Given the description of an element on the screen output the (x, y) to click on. 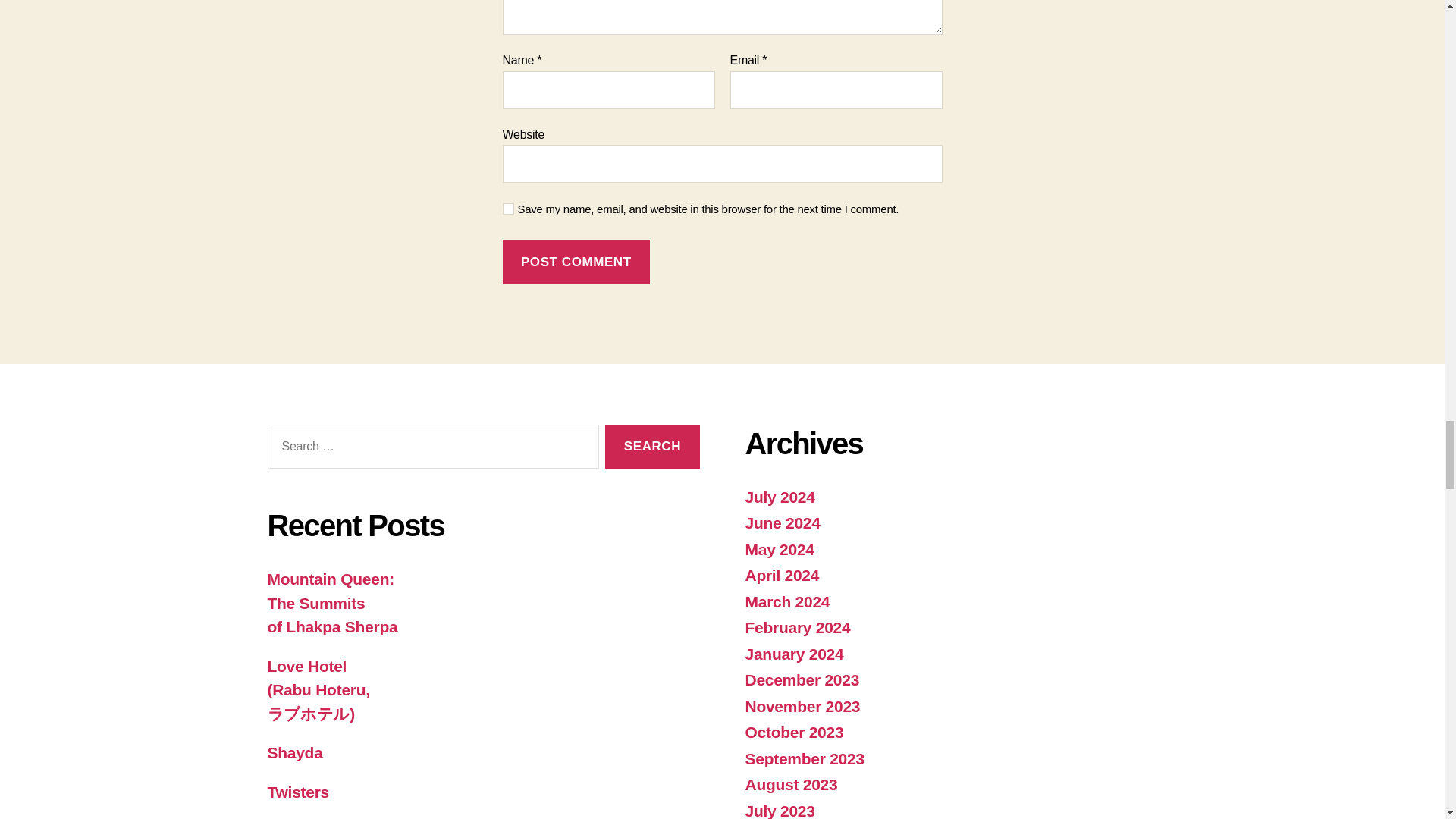
yes (507, 208)
Post Comment (575, 261)
Search (651, 447)
Search (651, 447)
